Given the description of an element on the screen output the (x, y) to click on. 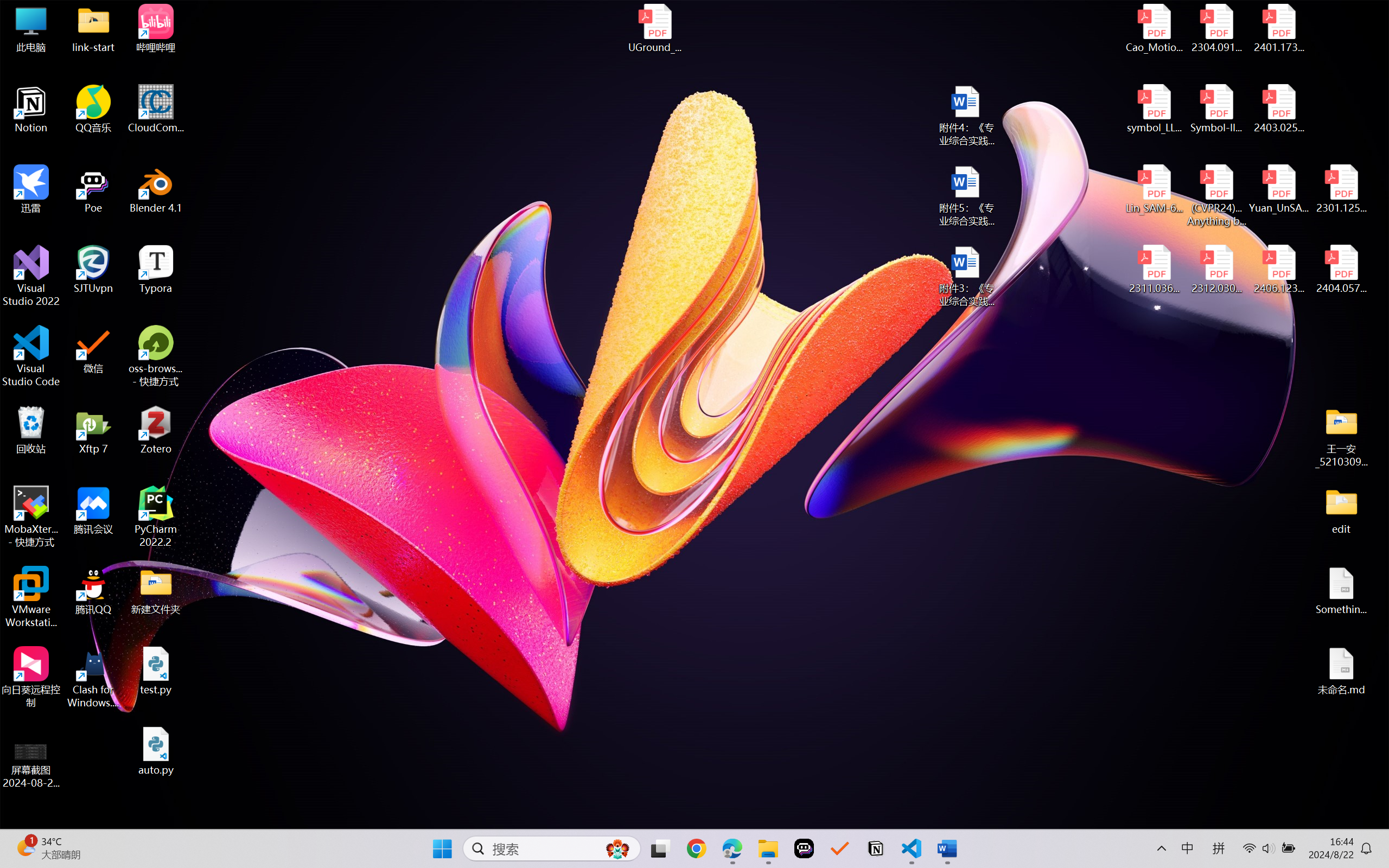
2404.05719v1.pdf (1340, 269)
CloudCompare (156, 109)
auto.py (156, 751)
Visual Studio 2022 (31, 276)
